Given the description of an element on the screen output the (x, y) to click on. 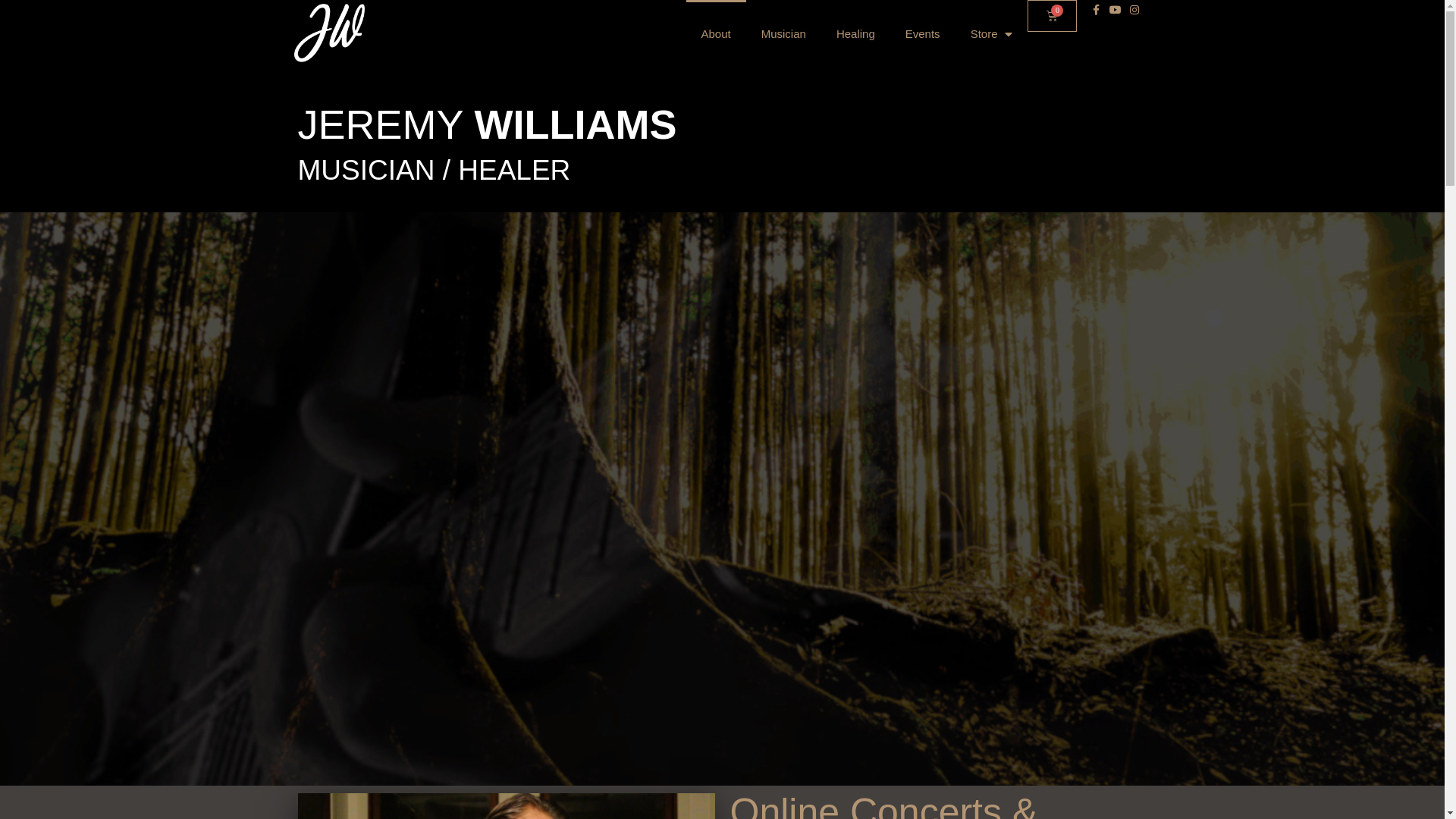
About Element type: text (715, 34)
Store Element type: text (991, 34)
Musician Element type: text (783, 34)
Healing Element type: text (855, 34)
Events Element type: text (922, 34)
